Given the description of an element on the screen output the (x, y) to click on. 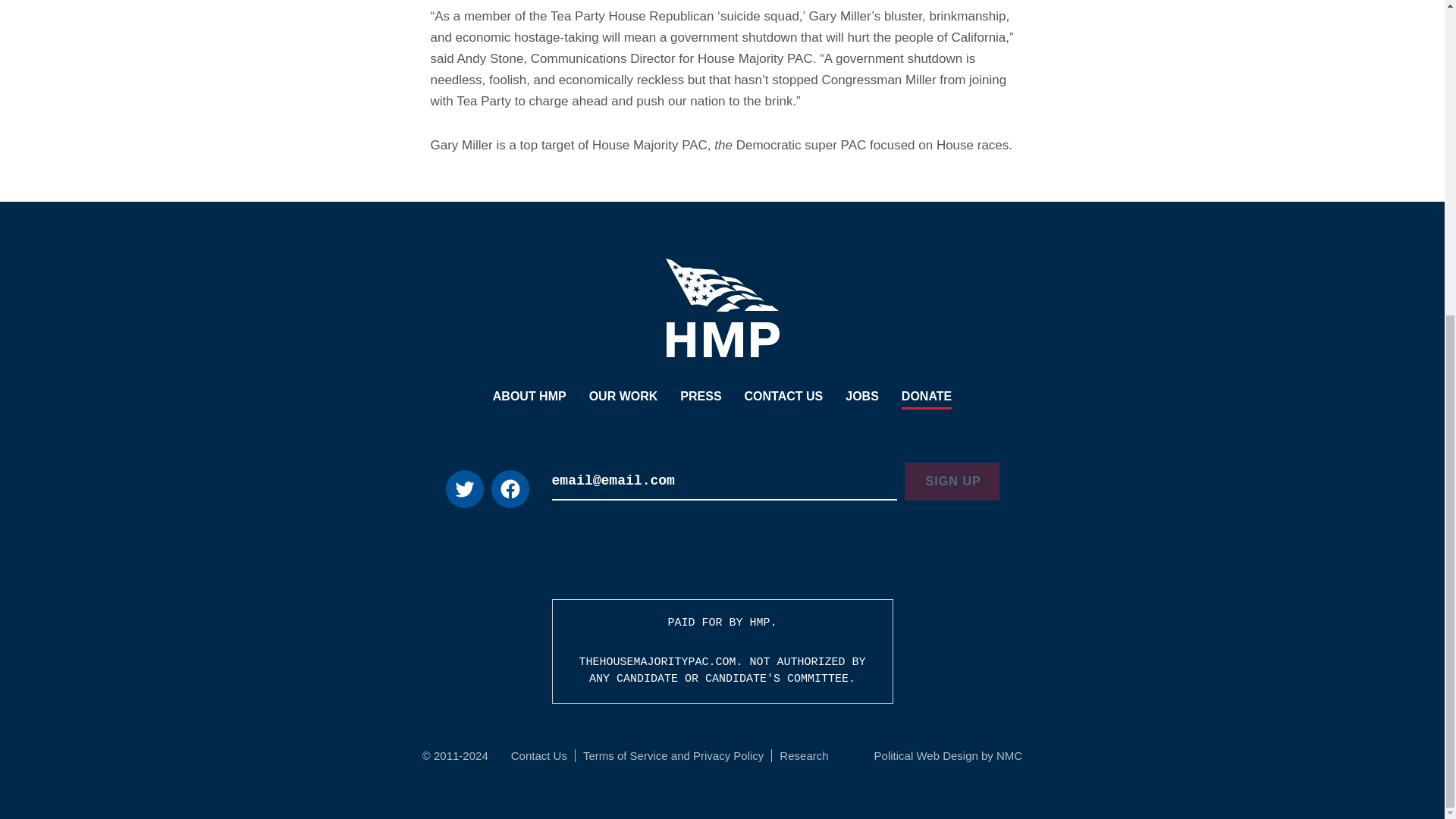
Contact Us (539, 755)
Political Web Design (926, 755)
Sign Up (951, 481)
Sign Up (951, 481)
CONTACT US (784, 397)
JOBS (862, 397)
Research (803, 755)
PRESS (699, 397)
OUR WORK (623, 397)
Terms of Service and Privacy Policy (672, 755)
